Given the description of an element on the screen output the (x, y) to click on. 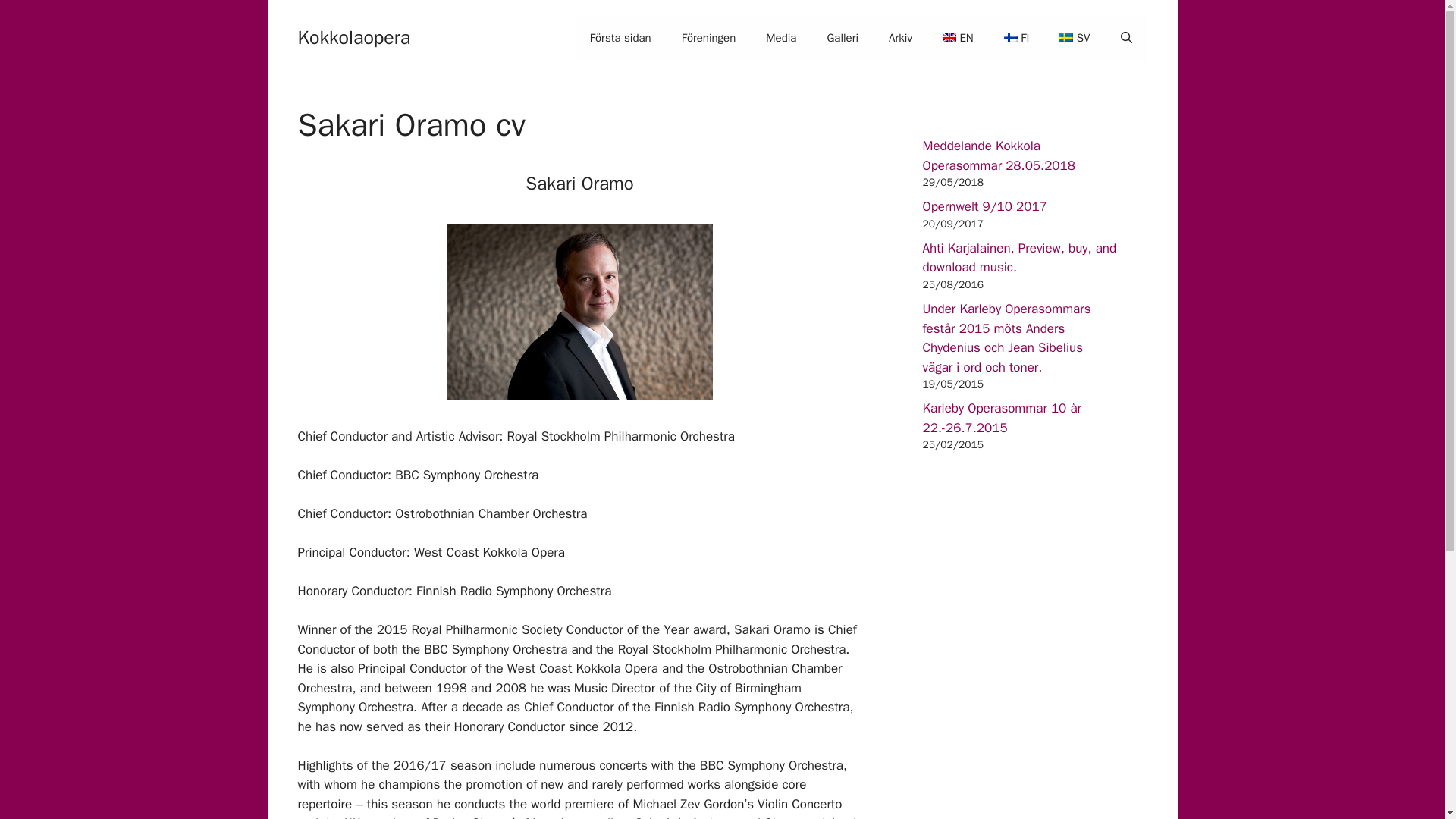
Meddelande Kokkola Operasommar 28.05.2018 (997, 155)
SV (1074, 37)
FI (1016, 37)
Ahti Karjalainen, Preview, buy, and download music. (1018, 258)
Arkiv (900, 37)
Media (780, 37)
EN (957, 37)
EN (957, 37)
Kokkolaopera (353, 37)
Sakari Markus Oramo OBEHarrisonParrott (579, 311)
SV (1074, 37)
Galleri (841, 37)
FI (1016, 37)
